Given the description of an element on the screen output the (x, y) to click on. 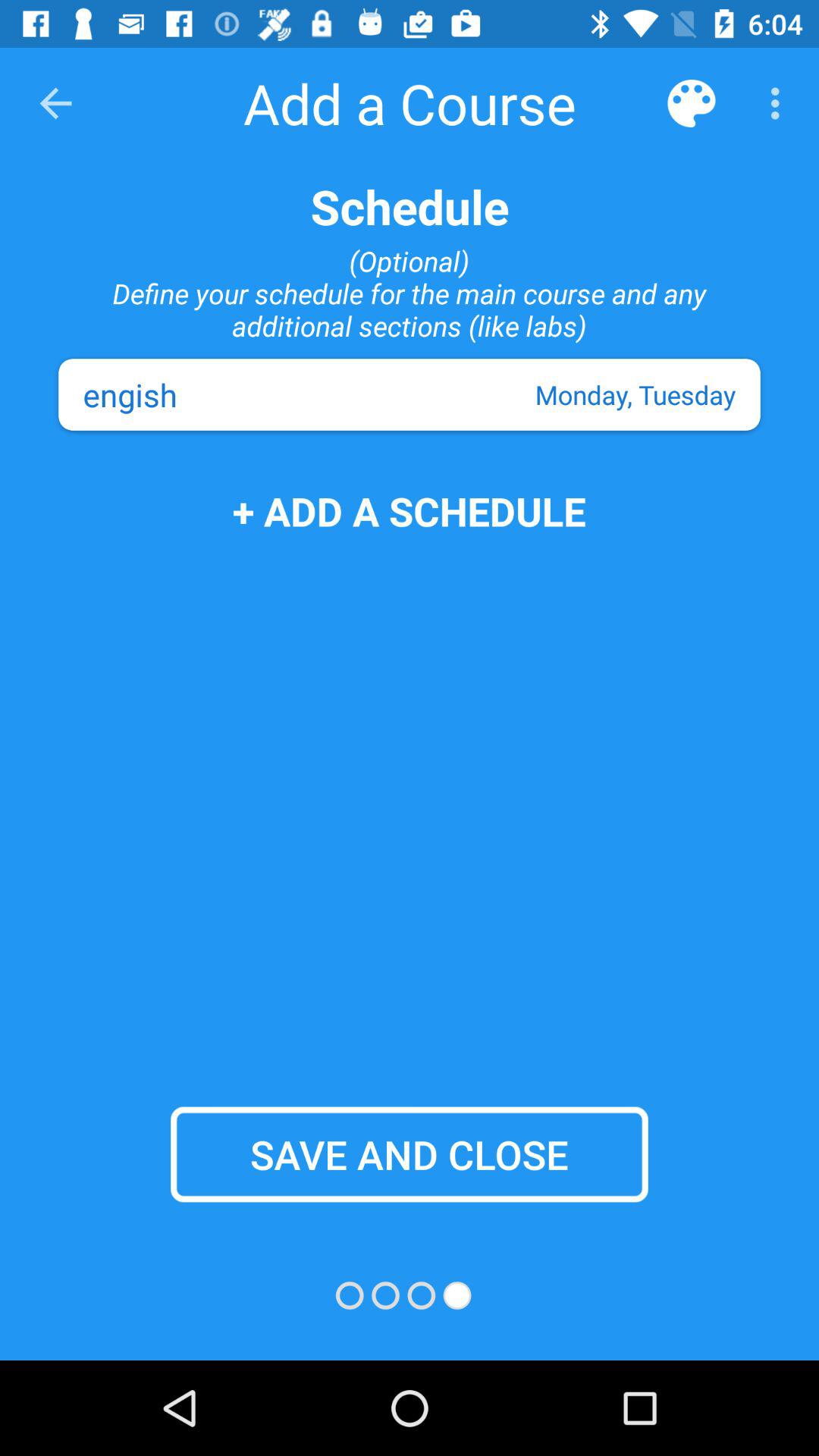
press icon below the + add a schedule icon (409, 1154)
